Given the description of an element on the screen output the (x, y) to click on. 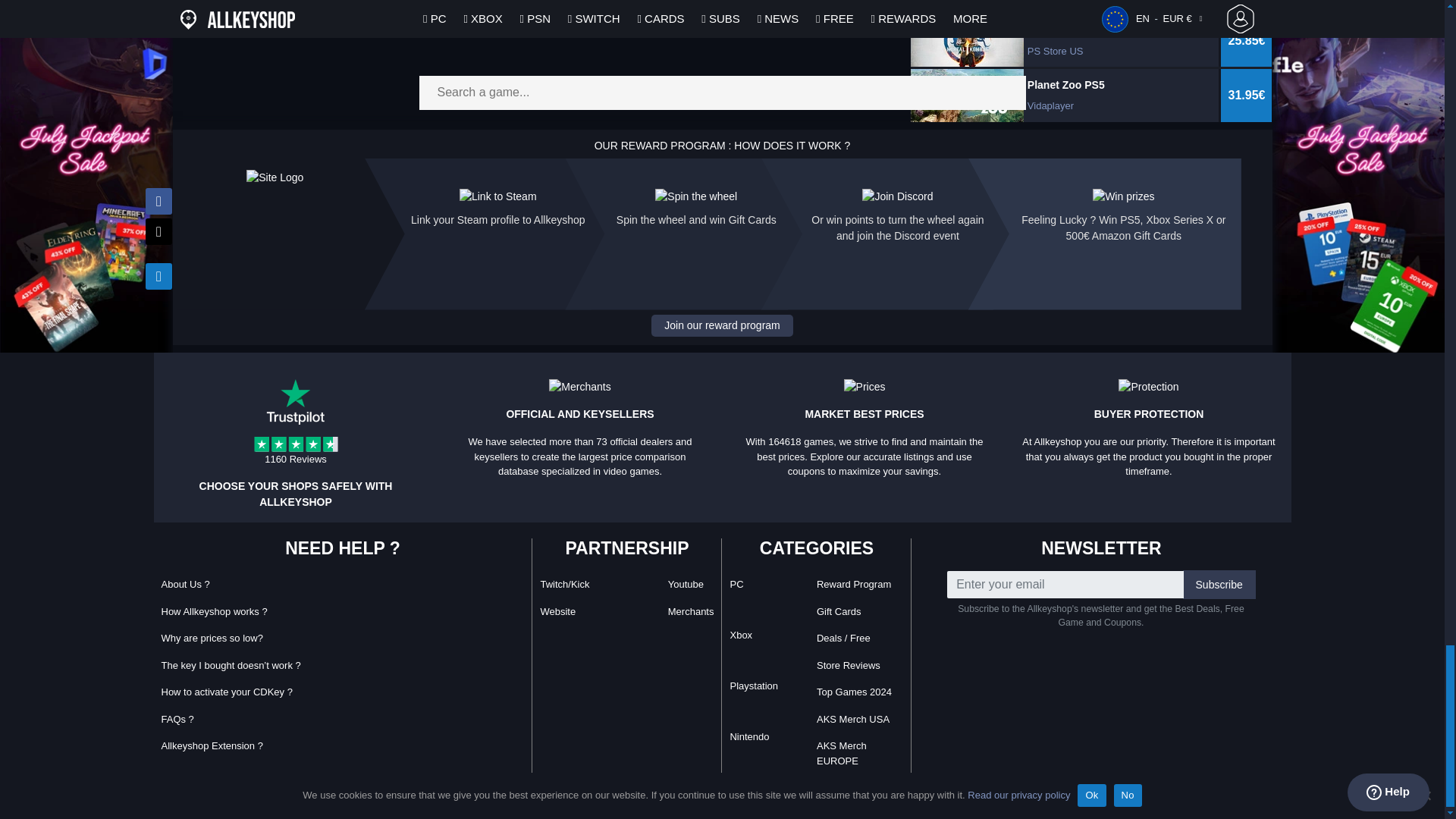
Subscribe (1218, 584)
